Given the description of an element on the screen output the (x, y) to click on. 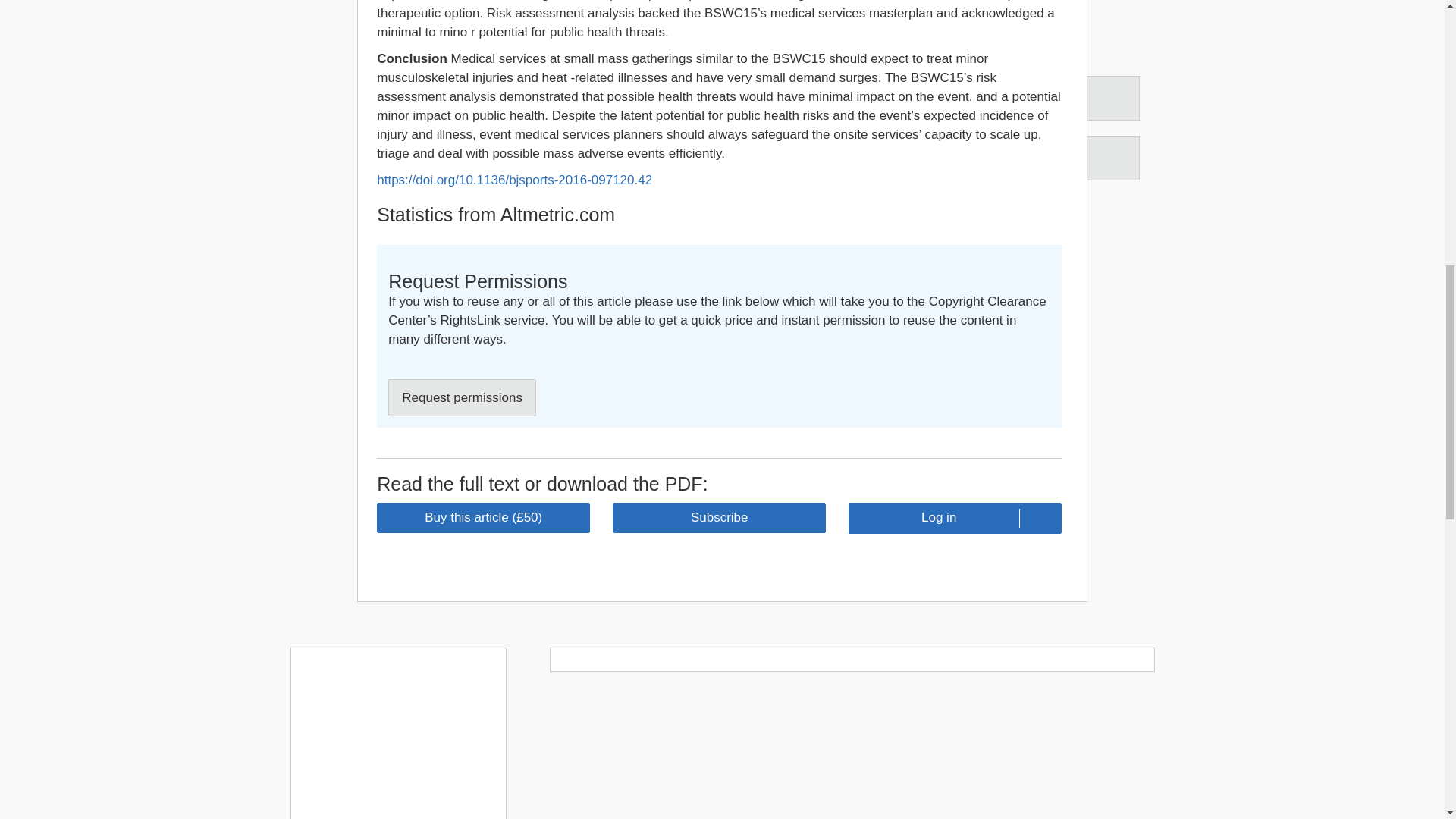
careers widget (397, 733)
